Given the description of an element on the screen output the (x, y) to click on. 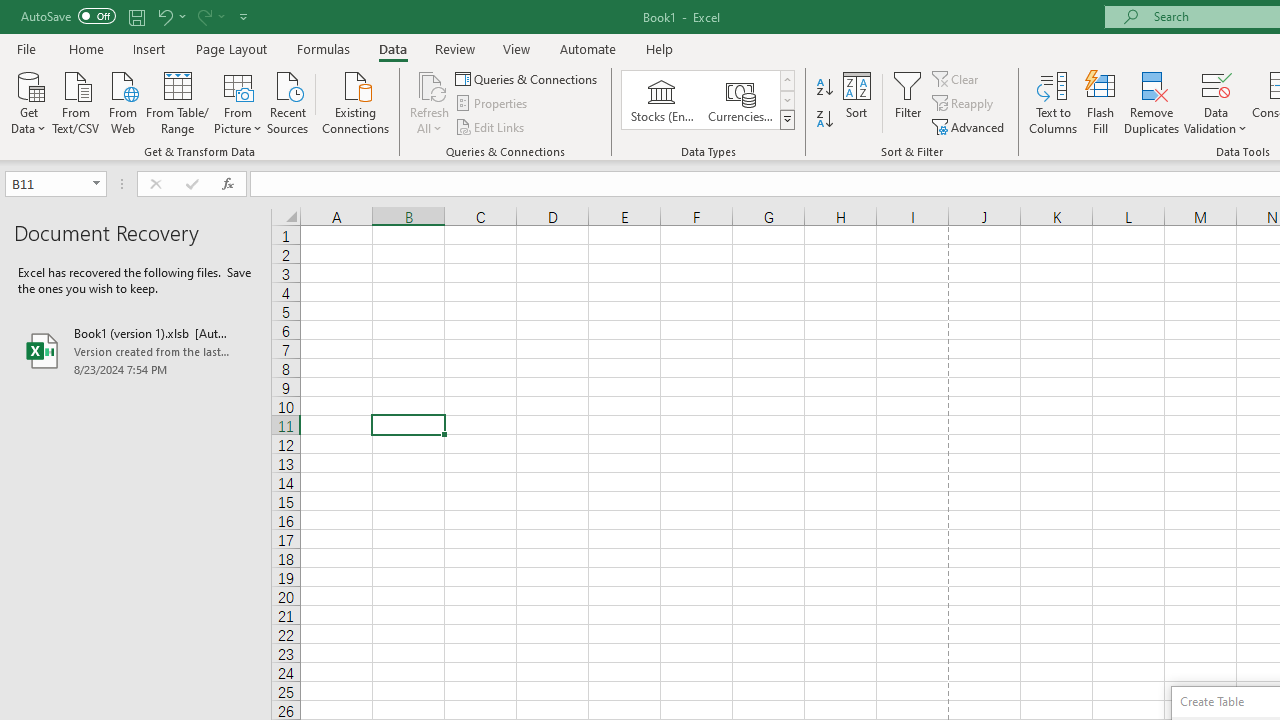
From Text/CSV (75, 101)
Stocks (English) (662, 100)
Properties (492, 103)
Row Down (786, 100)
Class: NetUIImage (787, 119)
Remove Duplicates (1151, 102)
